Given the description of an element on the screen output the (x, y) to click on. 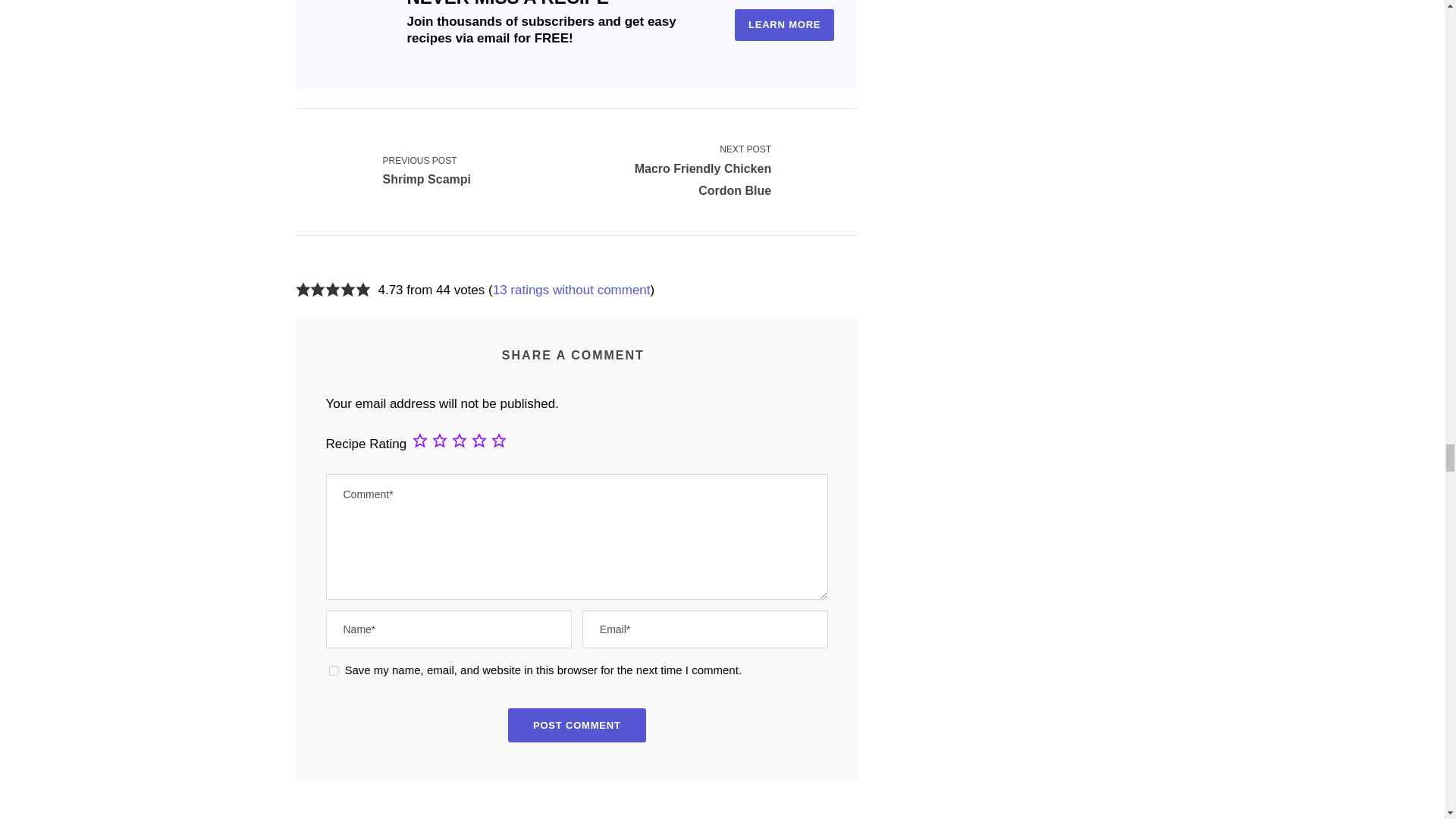
Post Comment (577, 725)
yes (334, 670)
